Given the description of an element on the screen output the (x, y) to click on. 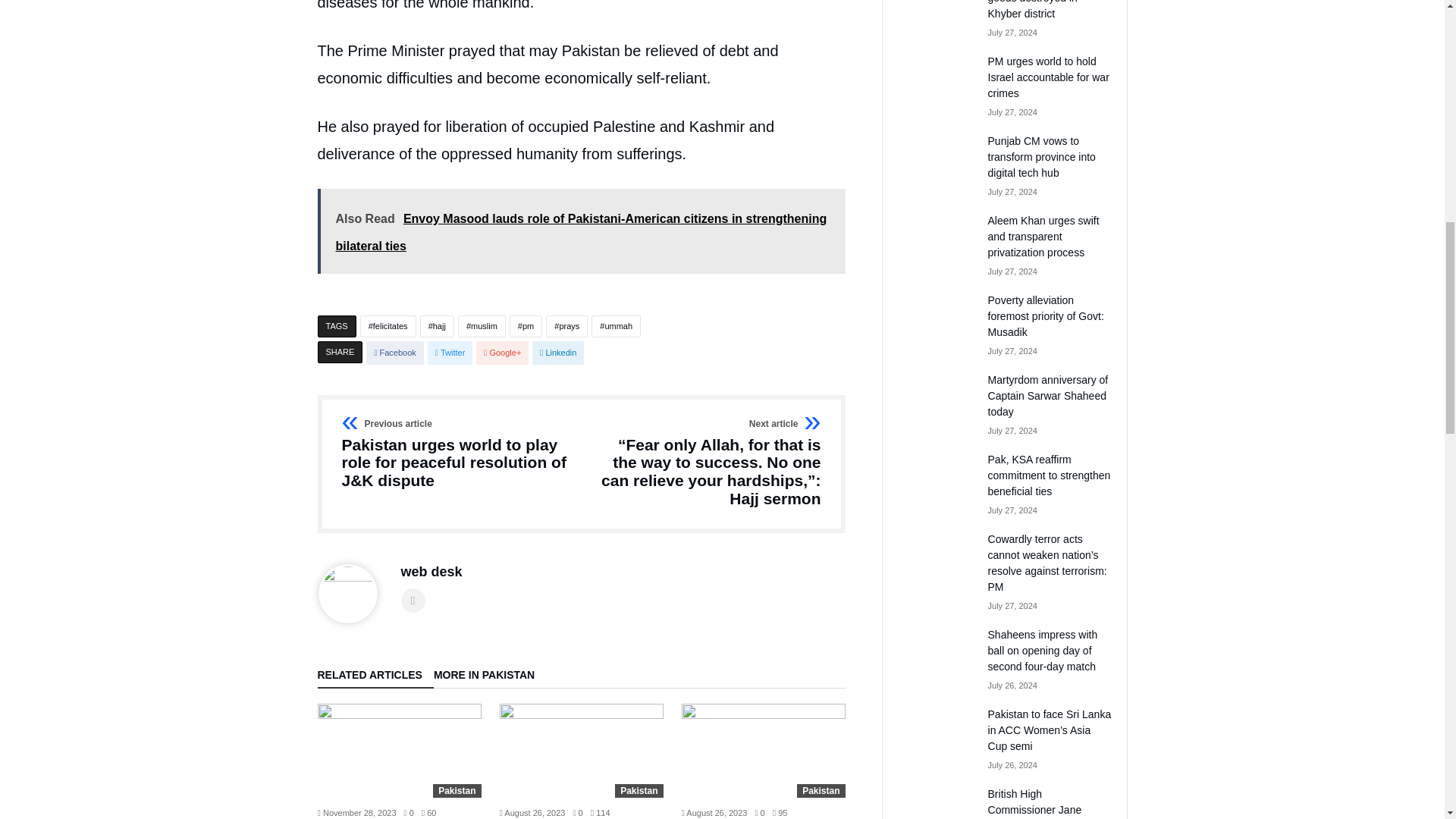
Facebook (394, 352)
twitter (450, 352)
pm (525, 326)
ummah (615, 326)
facebook (394, 352)
prays (567, 326)
felicitates (387, 326)
muslim (481, 326)
Twitter (450, 352)
linkedin (557, 352)
google (502, 352)
hajj (437, 326)
